Given the description of an element on the screen output the (x, y) to click on. 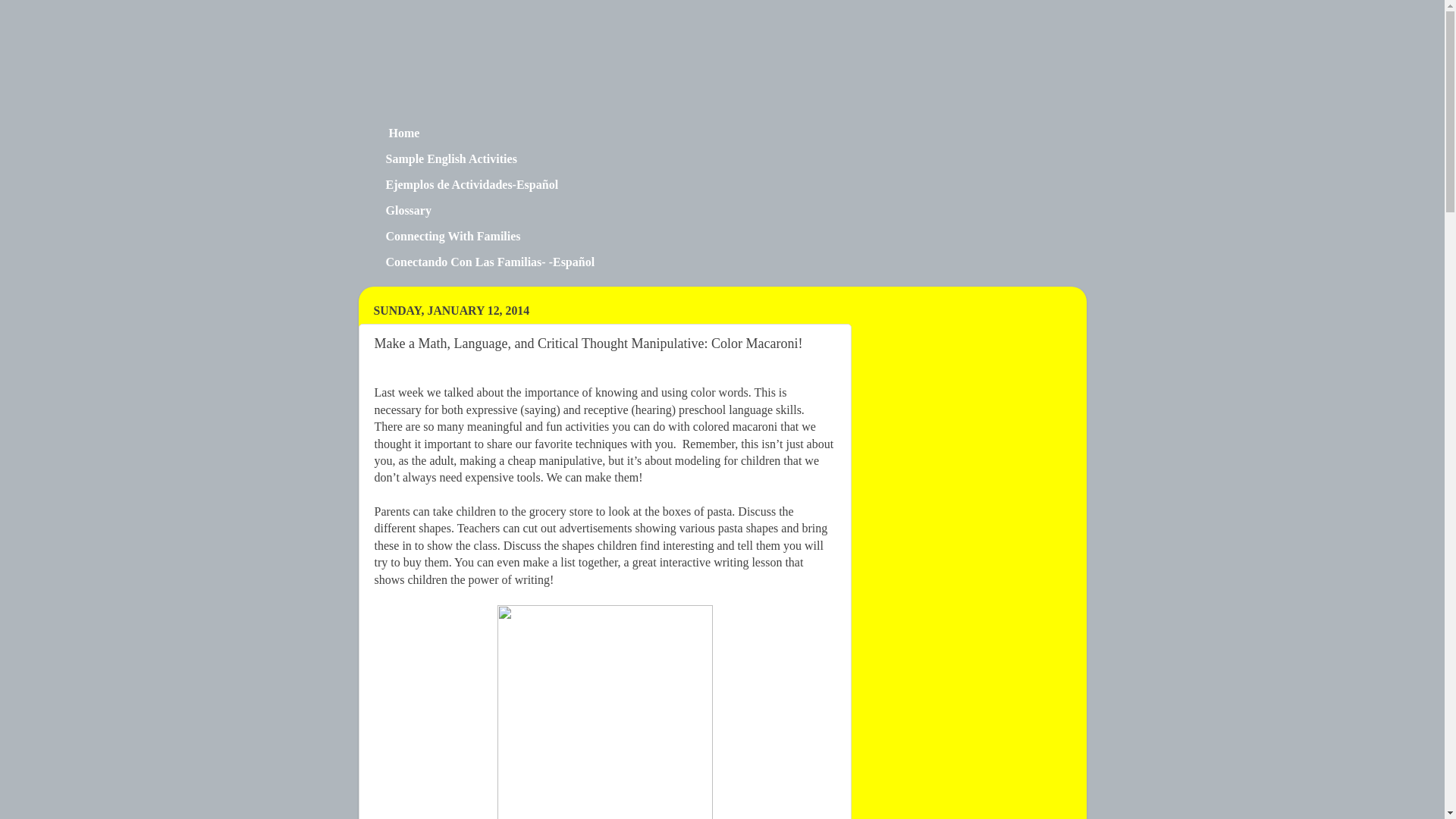
Home (402, 133)
Glossary (408, 210)
Connecting With Families (452, 236)
Sample English Activities (450, 158)
